Given the description of an element on the screen output the (x, y) to click on. 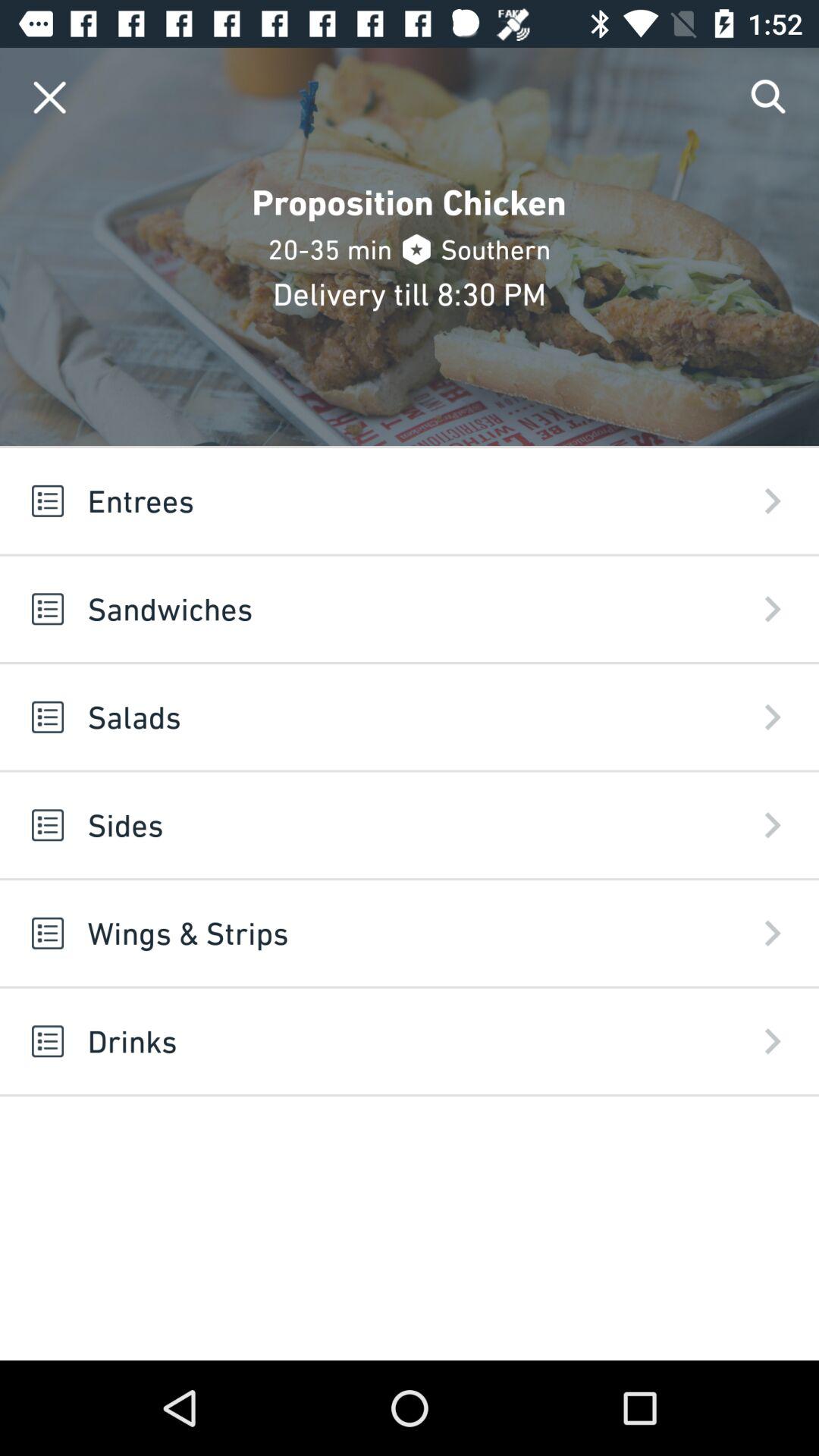
close (49, 97)
